Given the description of an element on the screen output the (x, y) to click on. 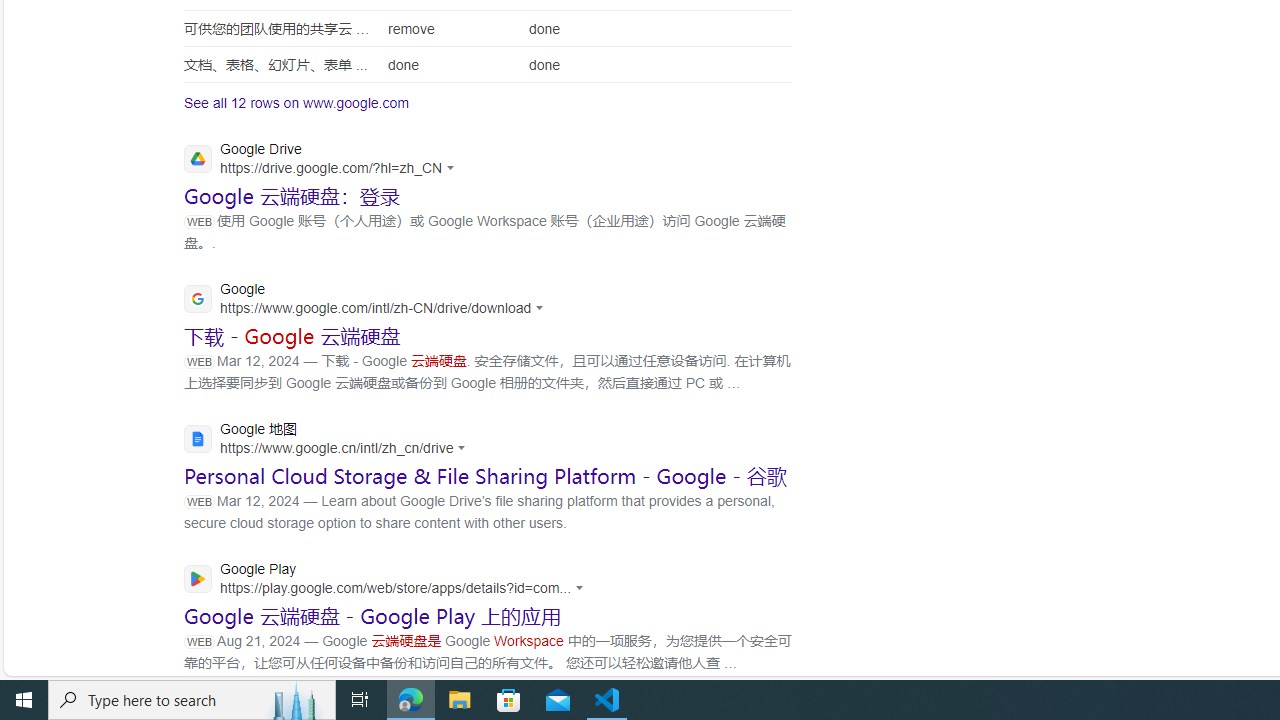
Google Drive (324, 160)
